Given the description of an element on the screen output the (x, y) to click on. 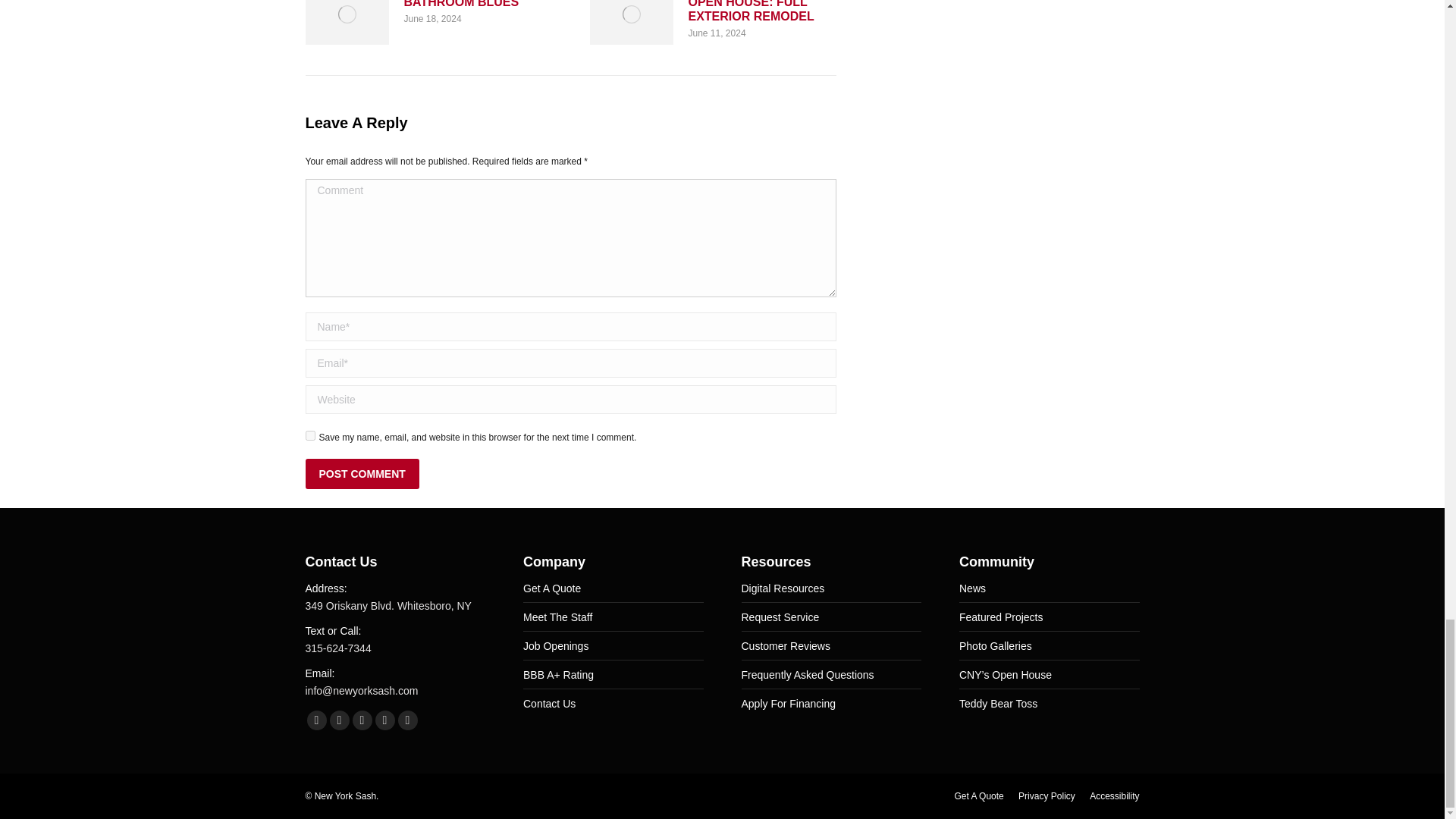
Facebook page opens in new window (315, 720)
Pinterest page opens in new window (384, 720)
yes (309, 435)
YouTube page opens in new window (361, 720)
X page opens in new window (339, 720)
